Given the description of an element on the screen output the (x, y) to click on. 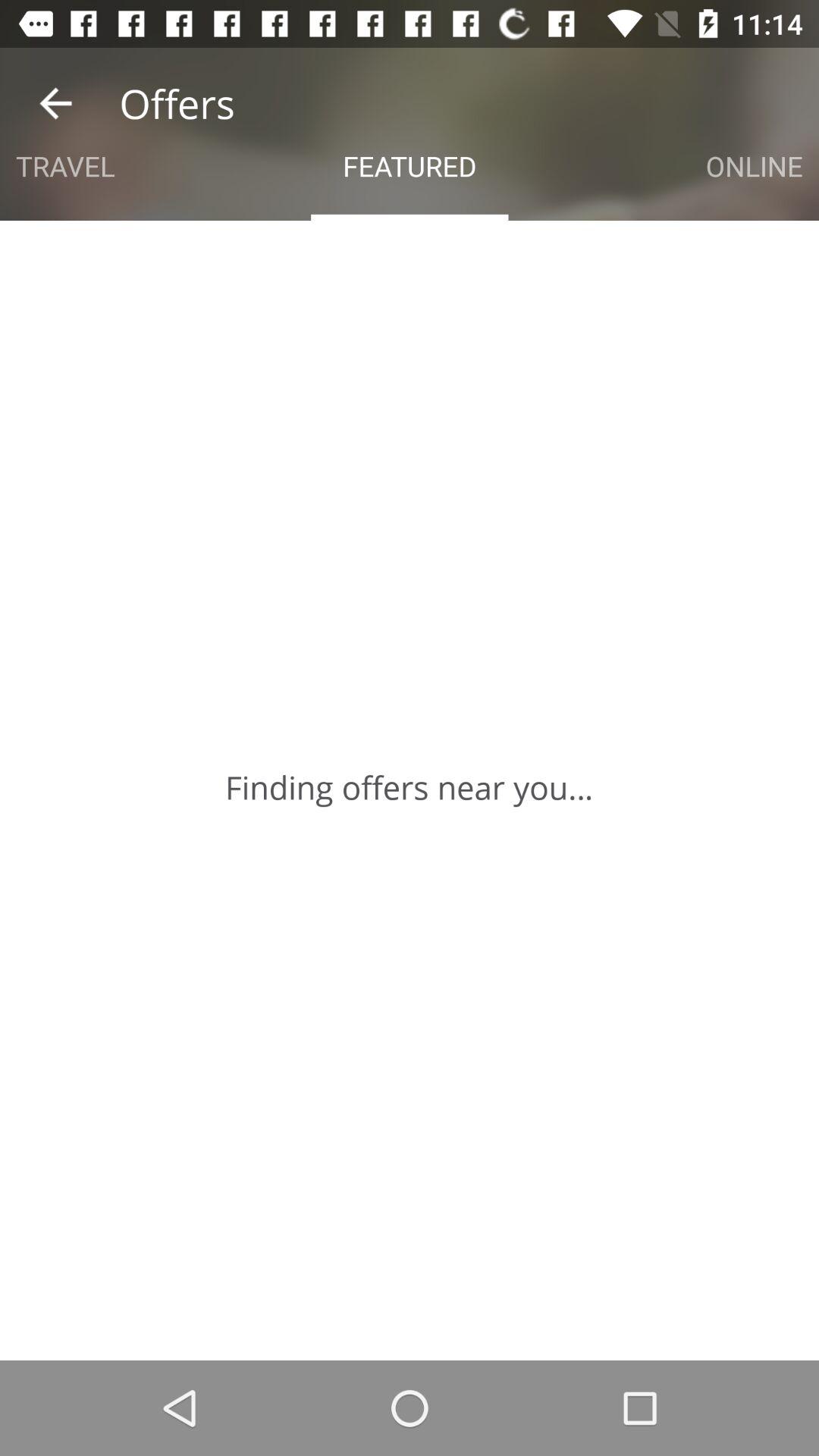
select the icon to the left of the offers app (55, 103)
